Given the description of an element on the screen output the (x, y) to click on. 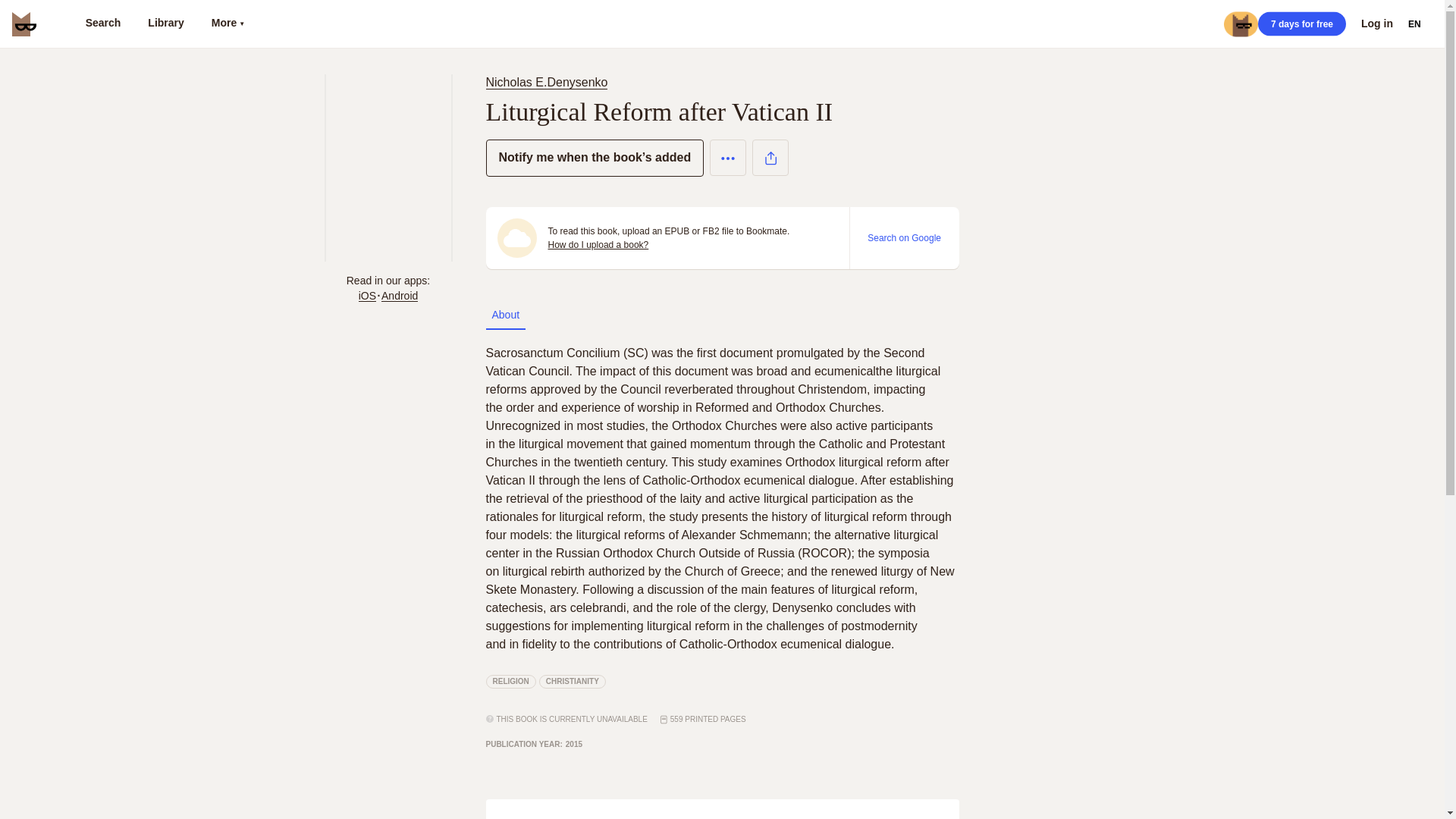
RELIGION (509, 681)
How do I upload a book? (597, 244)
Nicholas E.Denysenko (545, 82)
Search on Google (903, 237)
About (504, 314)
7 days for free (1301, 23)
Nicholas E.Denysenko (548, 82)
CHRISTIANITY (571, 681)
